Given the description of an element on the screen output the (x, y) to click on. 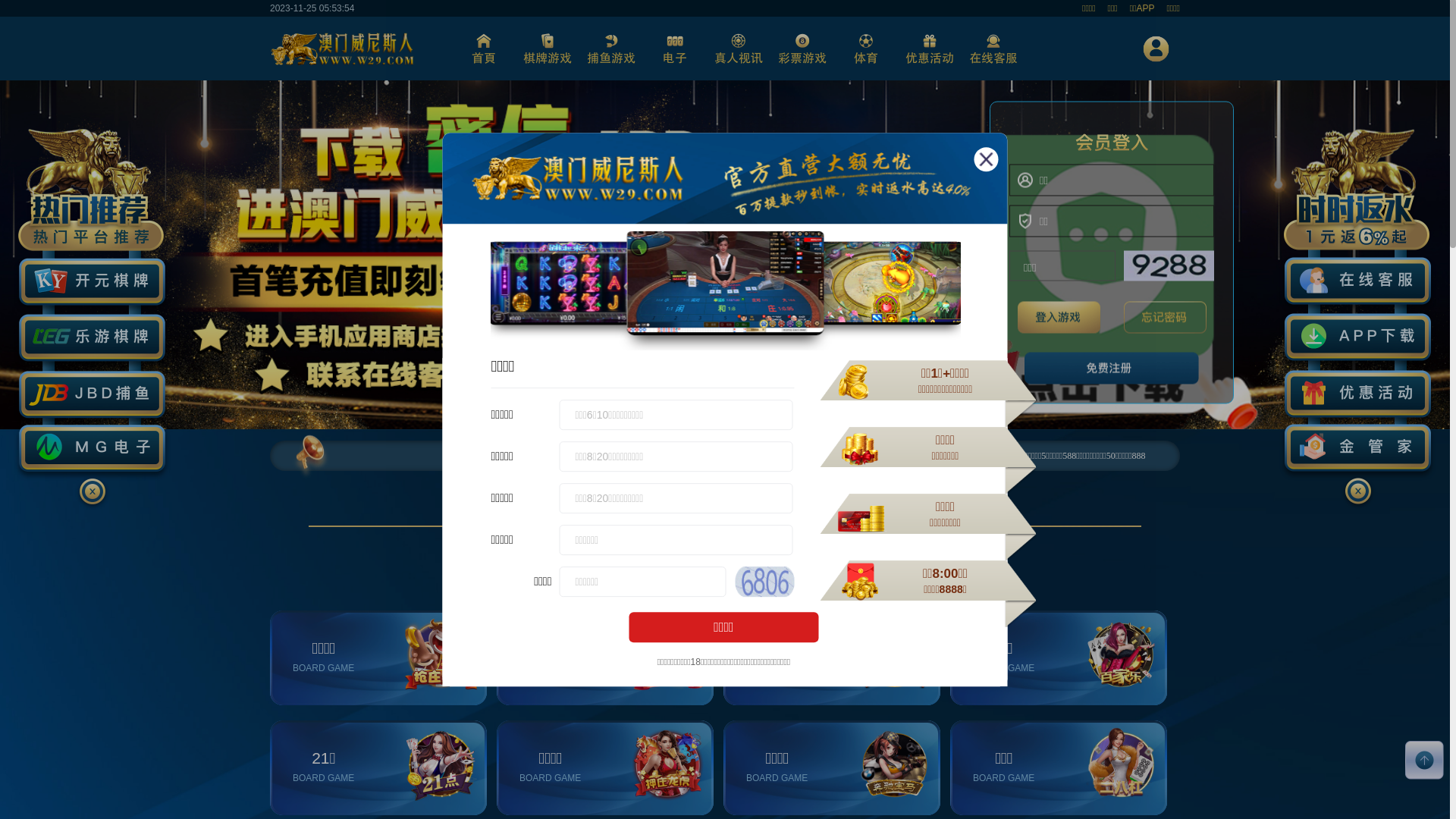
2023-11-25 05:53:52 Element type: text (311, 7)
